Given the description of an element on the screen output the (x, y) to click on. 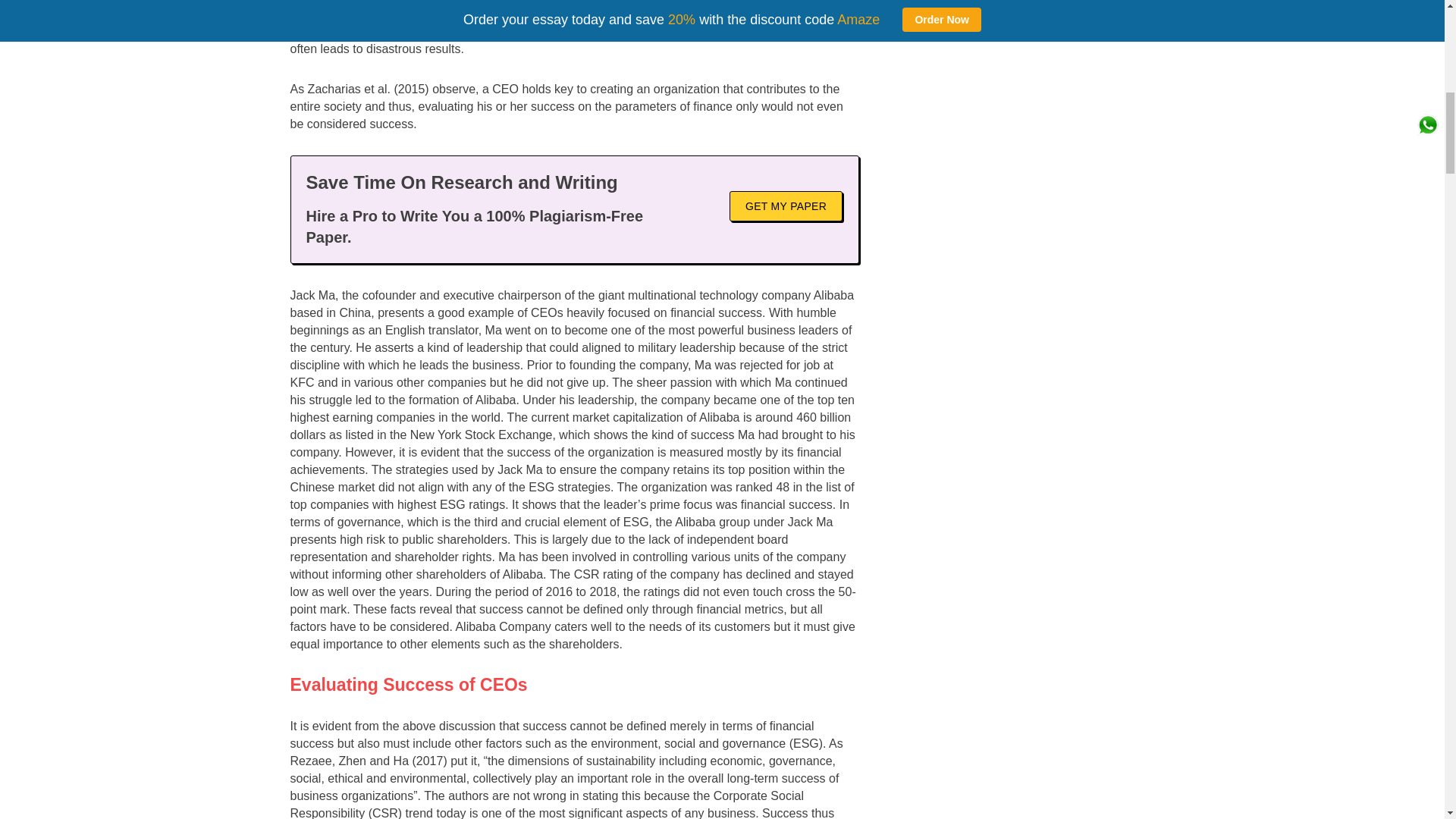
GET MY PAPER (786, 205)
